Given the description of an element on the screen output the (x, y) to click on. 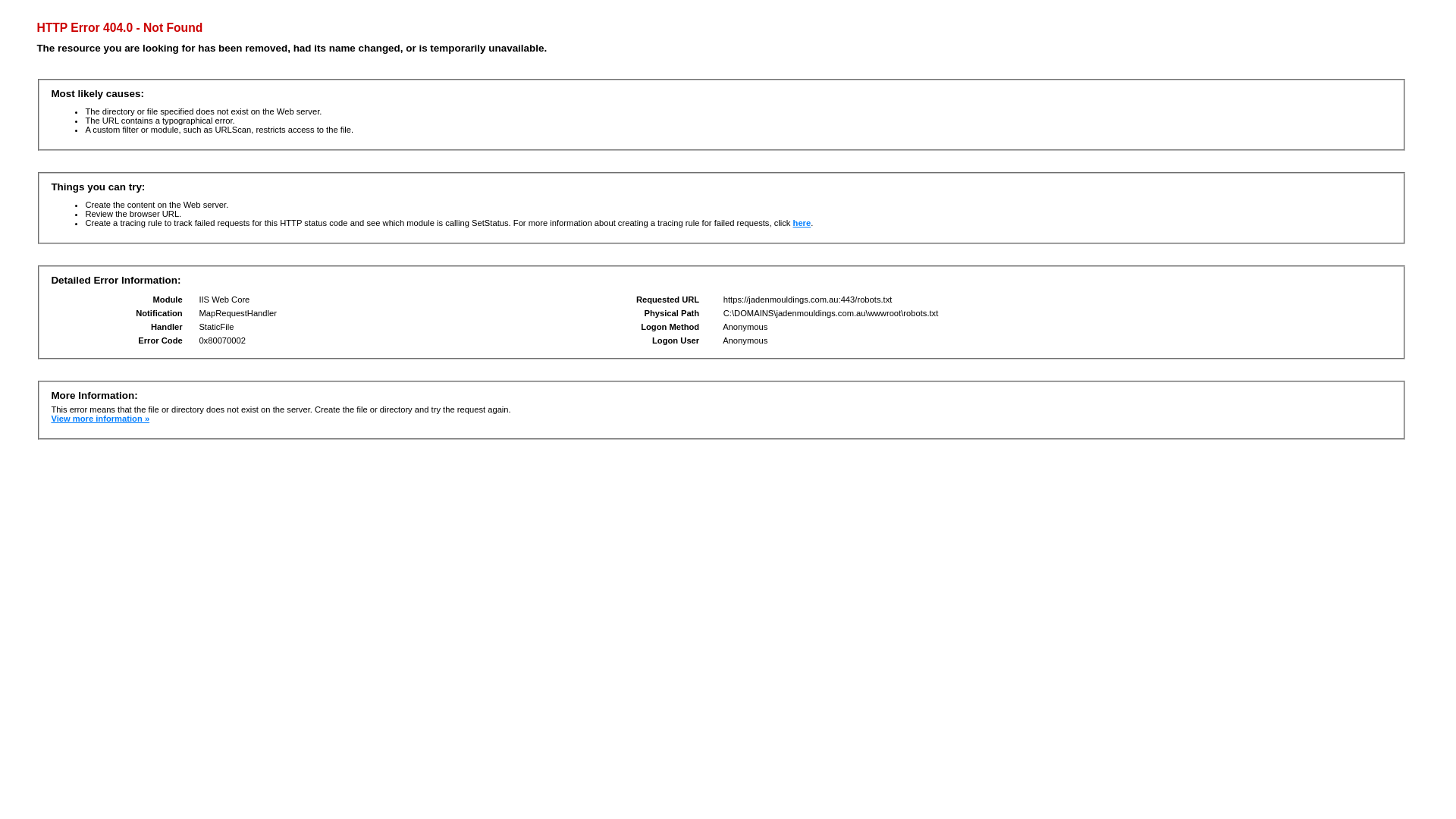
here Element type: text (802, 222)
